Given the description of an element on the screen output the (x, y) to click on. 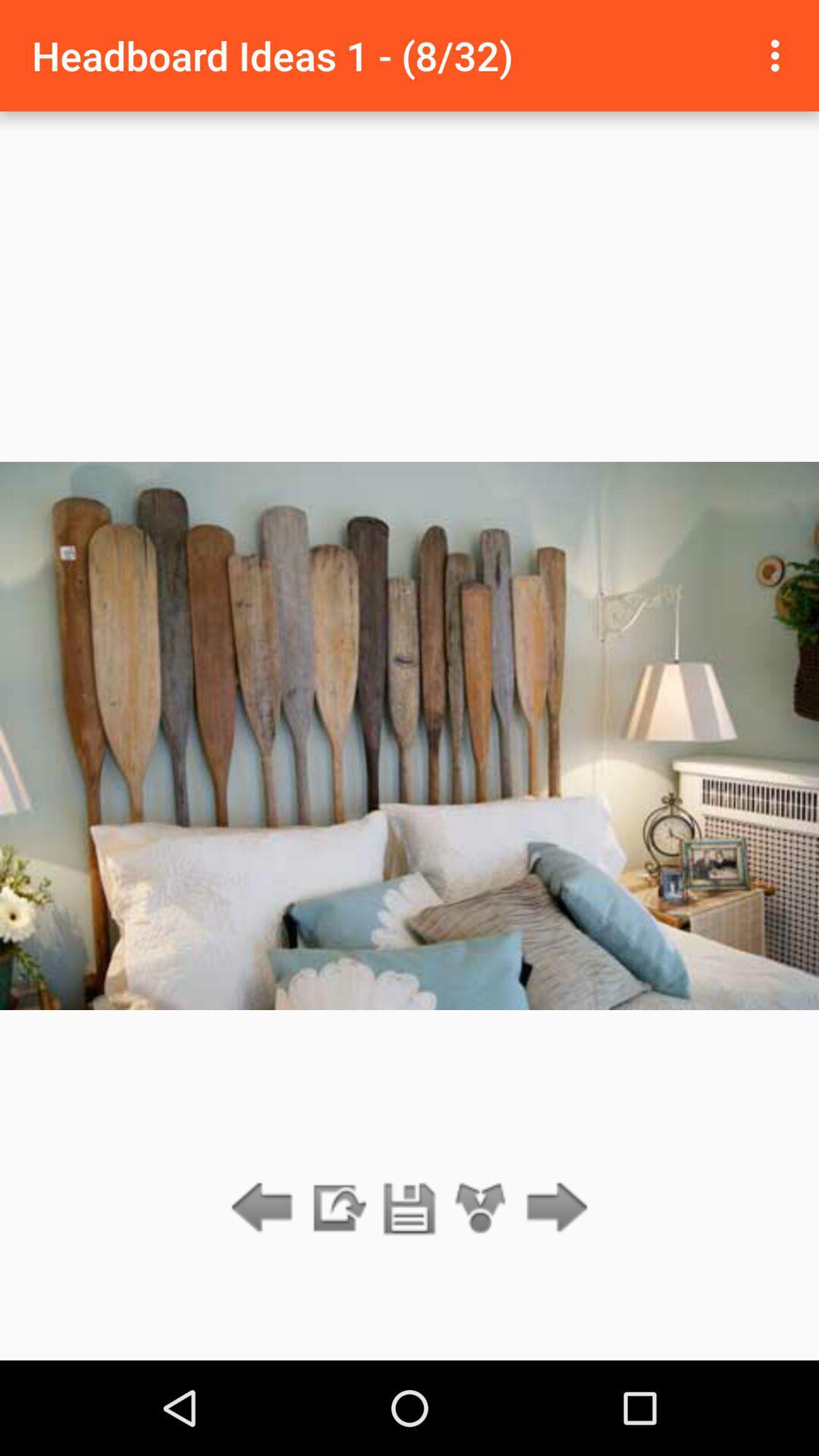
click icon below headboard ideas 1 (552, 1209)
